Given the description of an element on the screen output the (x, y) to click on. 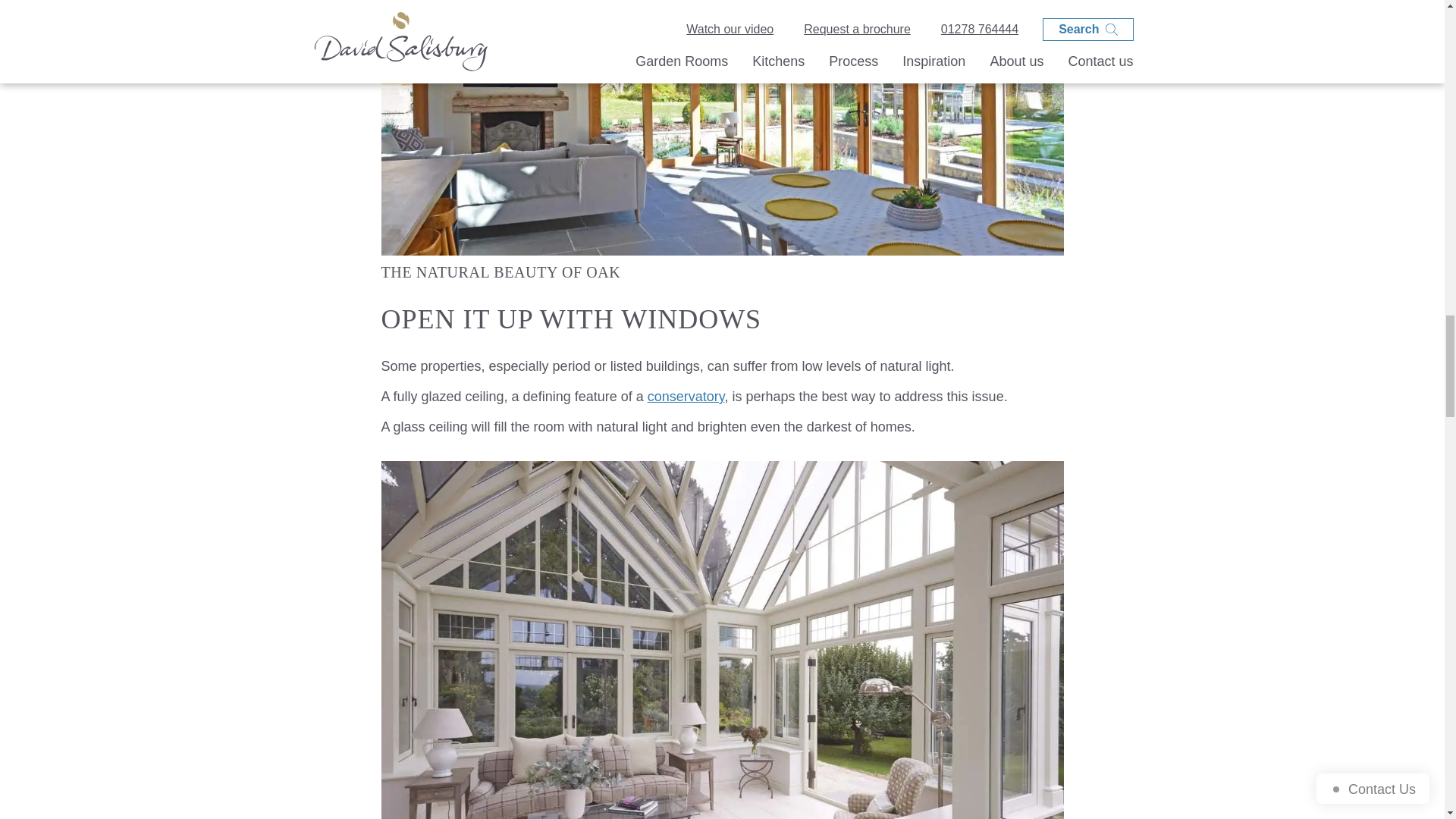
conservatory (686, 396)
